Given the description of an element on the screen output the (x, y) to click on. 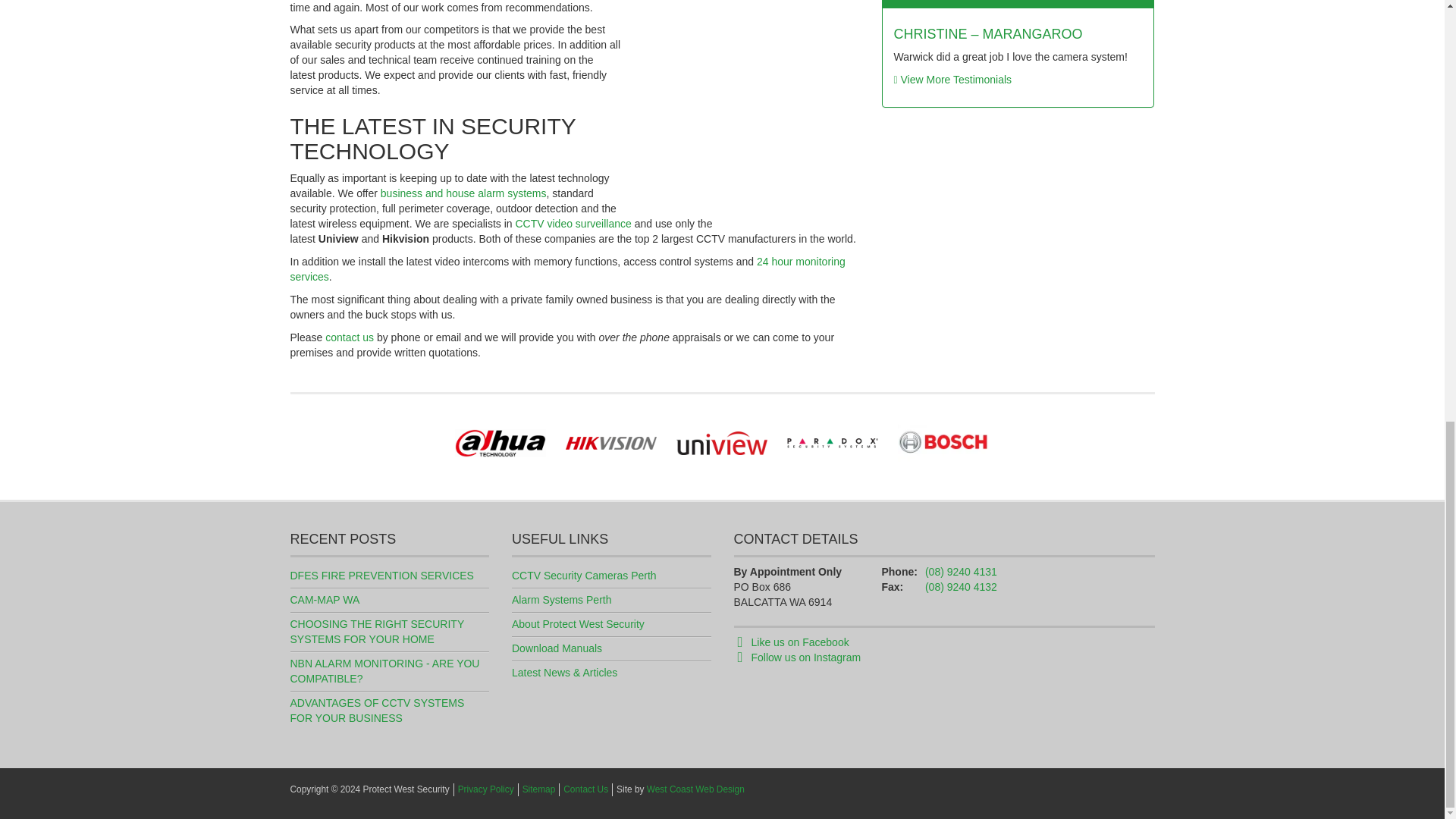
Contact Us (585, 788)
Download Manuals (557, 648)
NBN ALARM MONITORING - ARE YOU COMPATIBLE? (384, 670)
Sitemap (539, 788)
About Protect West Security (578, 623)
business and house alarm systems (463, 193)
24 hour monitoring services (566, 268)
Follow us on Instagram (805, 657)
Like us on Facebook (799, 642)
